Given the description of an element on the screen output the (x, y) to click on. 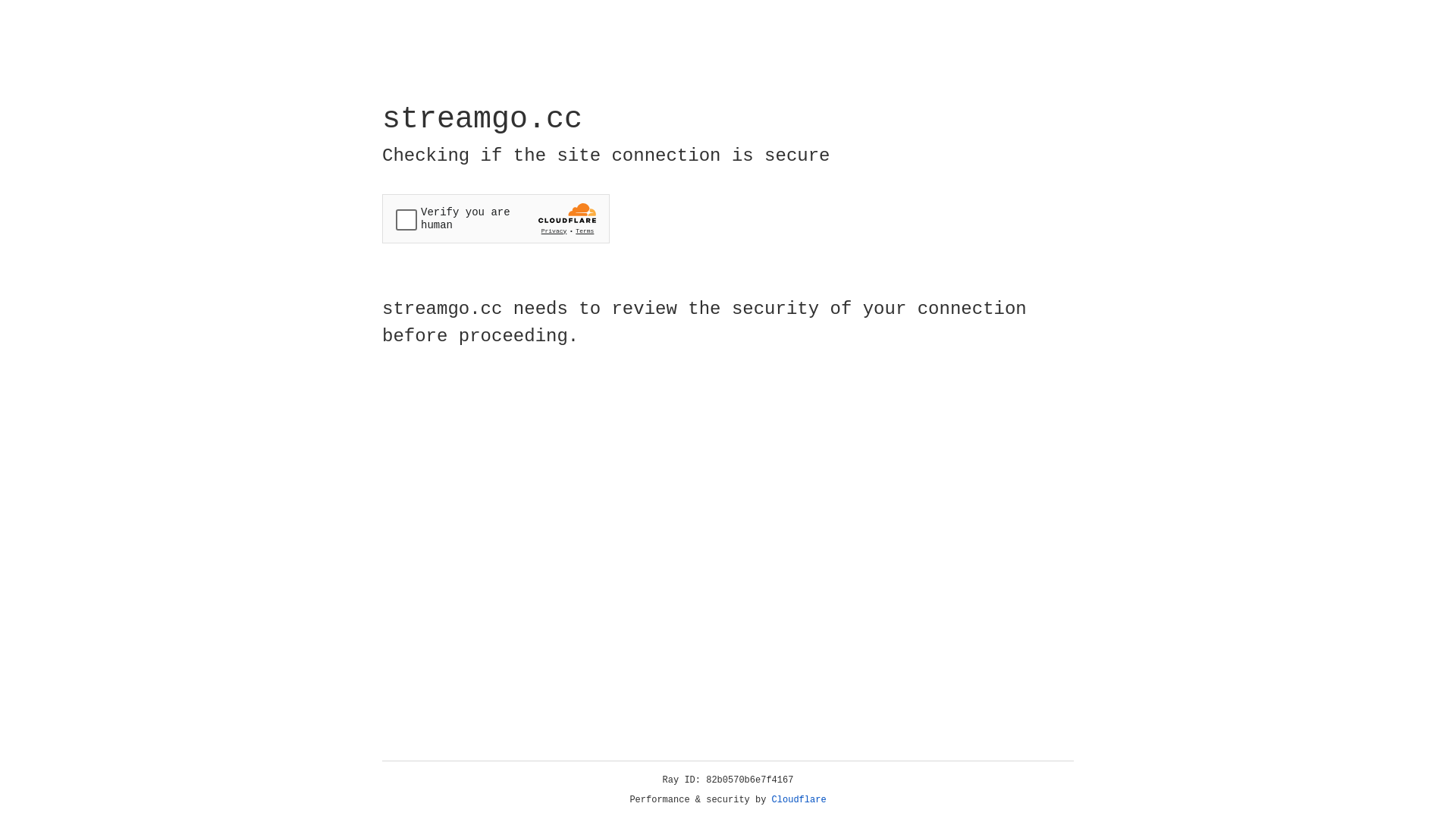
Widget containing a Cloudflare security challenge Element type: hover (495, 218)
Cloudflare Element type: text (798, 799)
